Given the description of an element on the screen output the (x, y) to click on. 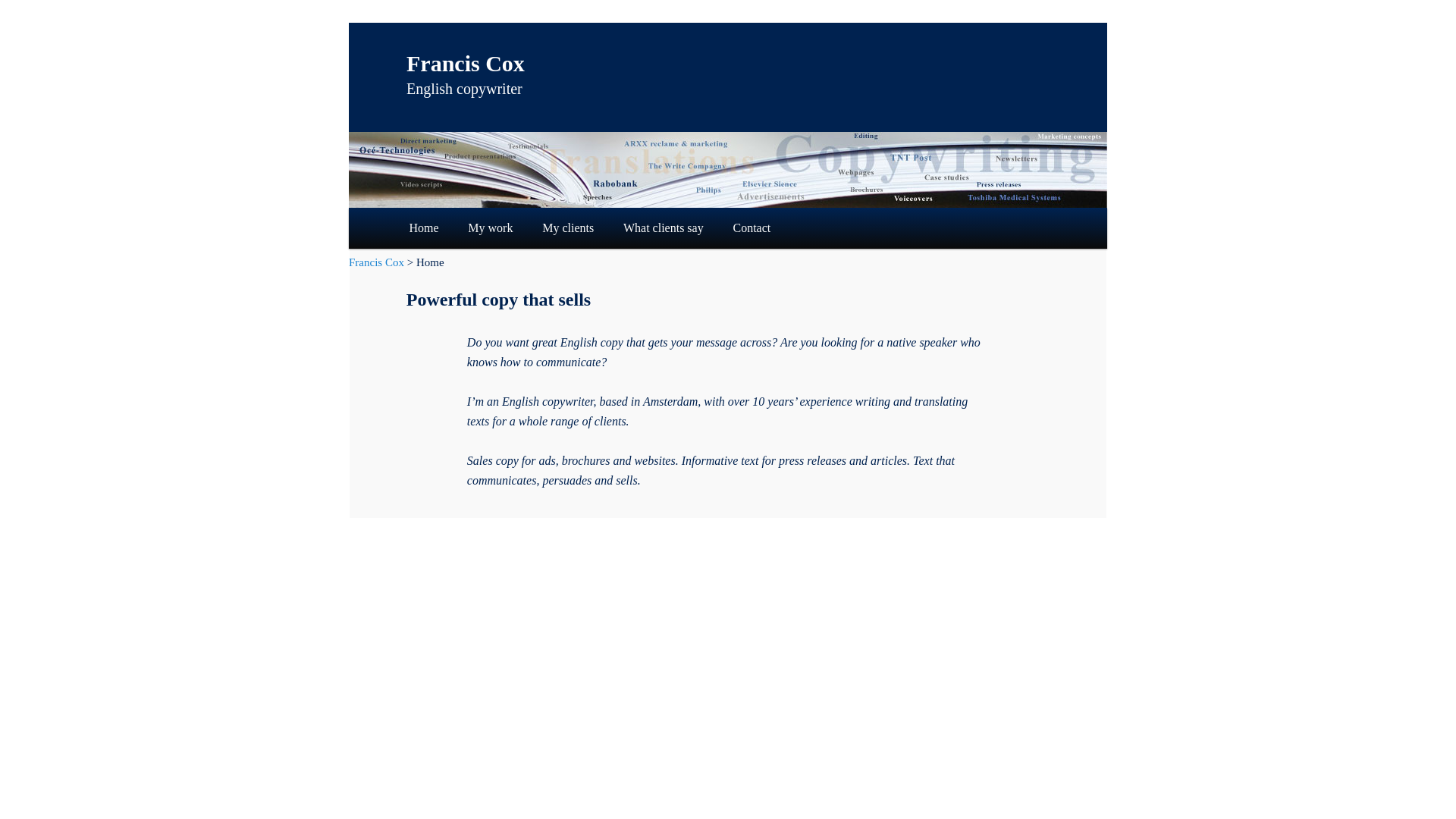
My clients (567, 228)
Skip to primary content (473, 226)
Francis Cox (465, 63)
What clients say (663, 228)
Francis Cox (465, 63)
Skip to secondary content (478, 226)
My work (489, 228)
Contact (751, 228)
Skip to primary content (473, 226)
Home (423, 228)
Francis Cox (376, 262)
Skip to secondary content (478, 226)
